Given the description of an element on the screen output the (x, y) to click on. 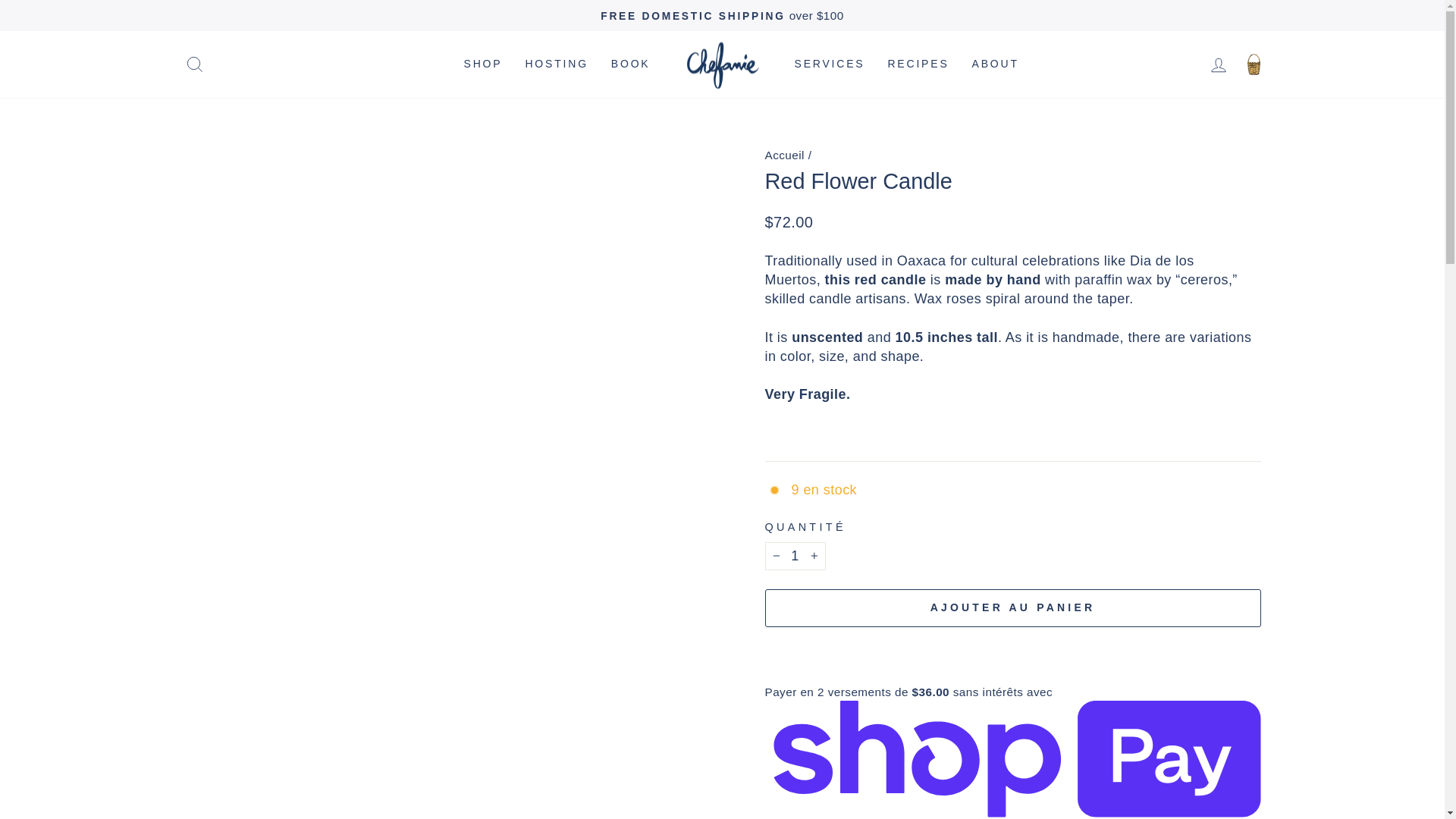
1 (794, 556)
